Given the description of an element on the screen output the (x, y) to click on. 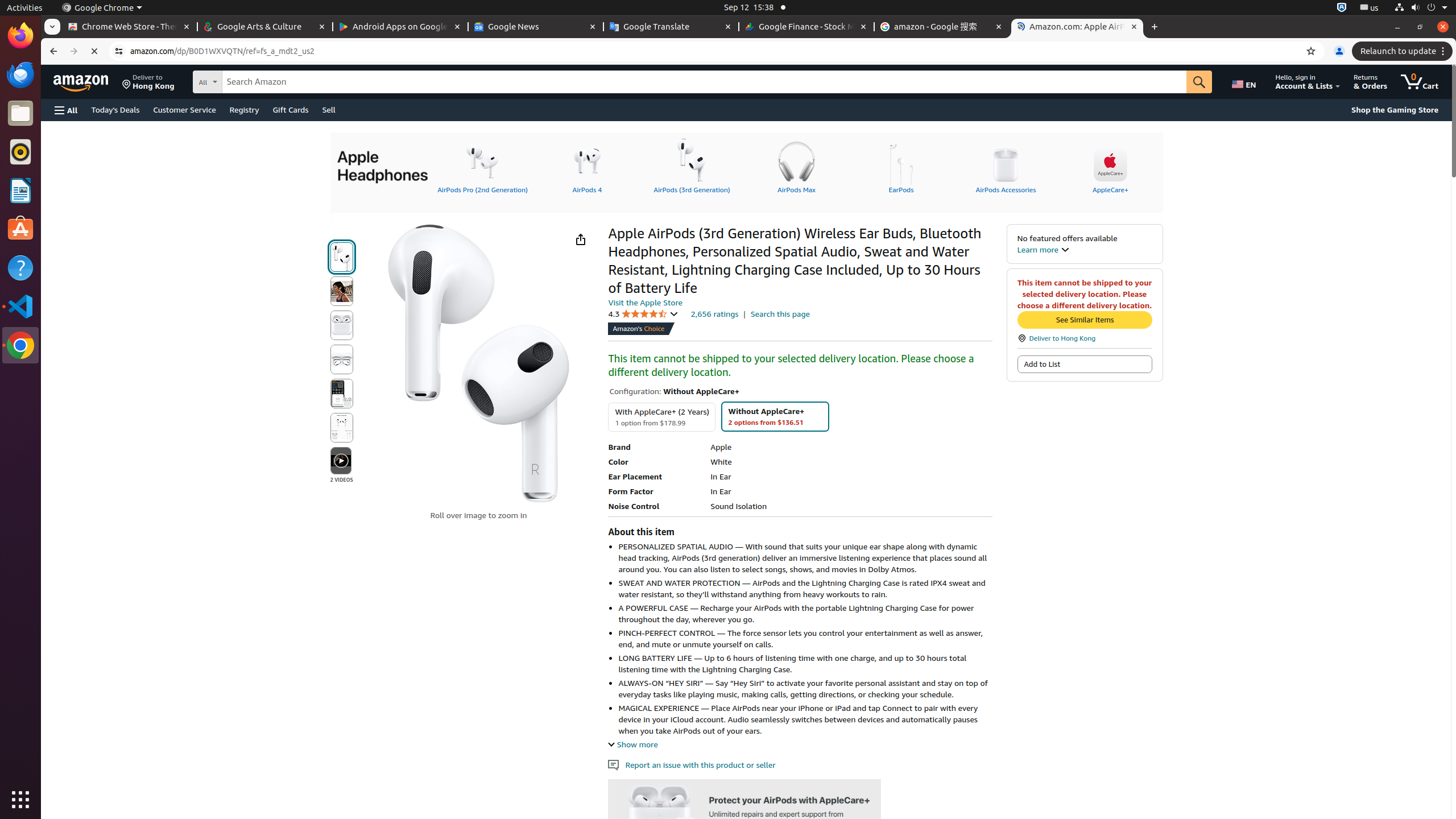
Share Element type: push-button (580, 239)
You Element type: push-button (1339, 50)
AirPods Accessories Element type: link (1005, 165)
4.3 4.3 out of 5 stars Element type: push-button (642, 313)
Show Applications Element type: toggle-button (20, 799)
